Given the description of an element on the screen output the (x, y) to click on. 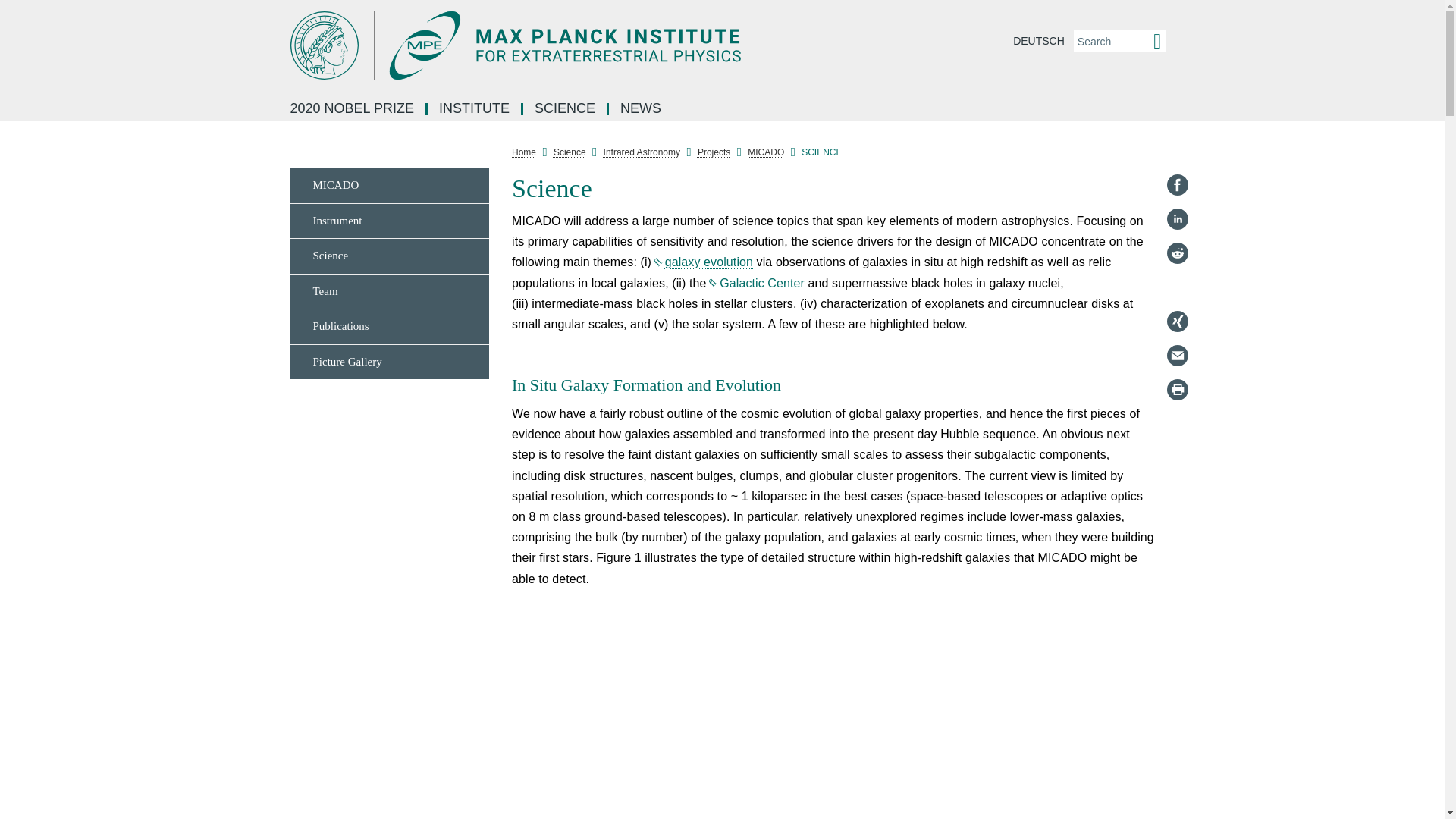
Xing (1177, 321)
LinkedIn (1177, 219)
Print (1177, 389)
Reddit (1177, 252)
SCIENCE (565, 108)
Facebook (1177, 184)
DEUTSCH (1038, 41)
2020 NOBEL PRIZE (353, 108)
INSTITUTE (475, 108)
